Given the description of an element on the screen output the (x, y) to click on. 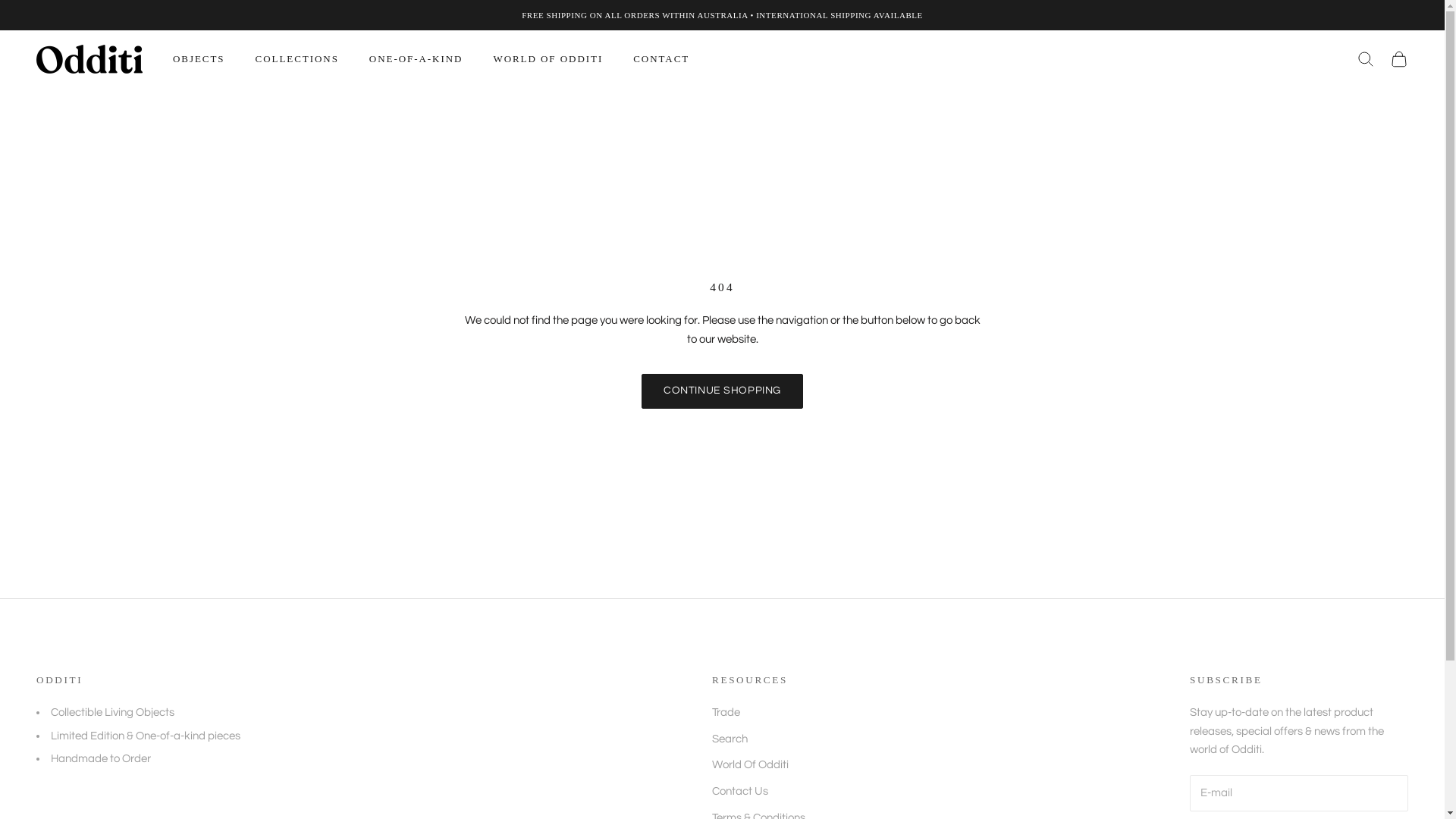
CONTINUE SHOPPING Element type: text (722, 390)
ONE-OF-A-KIND Element type: text (416, 58)
CONTACT Element type: text (661, 58)
Trade Element type: text (726, 712)
WORLD OF ODDITI Element type: text (547, 58)
Search Element type: text (729, 738)
Open cart Element type: text (1399, 59)
Open search Element type: text (1365, 59)
World Of Odditi Element type: text (750, 764)
Contact Us Element type: text (740, 791)
Odditi Element type: text (89, 58)
